Given the description of an element on the screen output the (x, y) to click on. 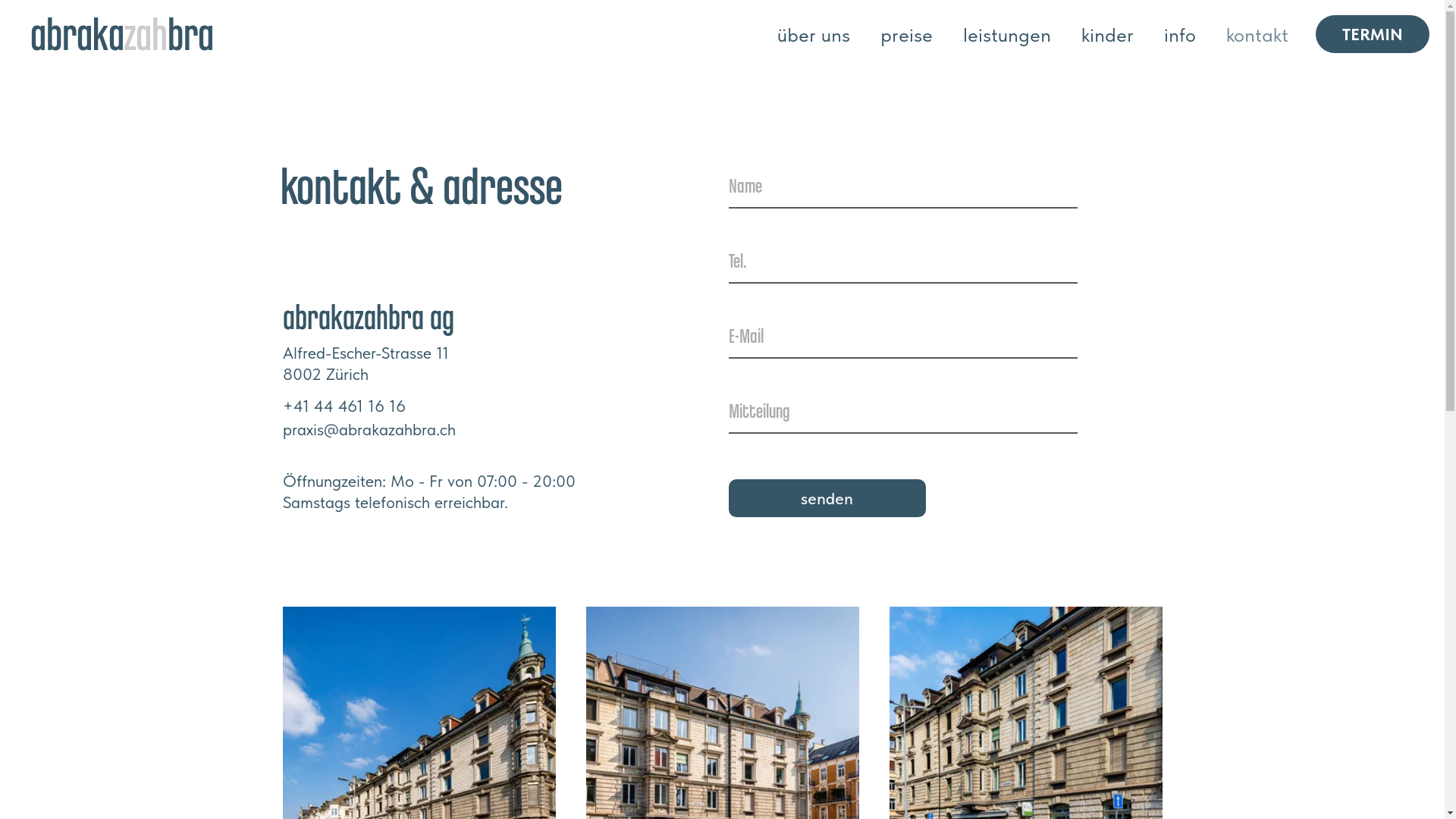
kontakt Element type: text (1257, 34)
senden Element type: text (826, 498)
preise Element type: text (906, 34)
abrakazahbra Element type: text (133, 46)
TERMIN Element type: text (1372, 32)
leistungen Element type: text (1007, 34)
kinder Element type: text (1107, 34)
info Element type: text (1179, 34)
